Given the description of an element on the screen output the (x, y) to click on. 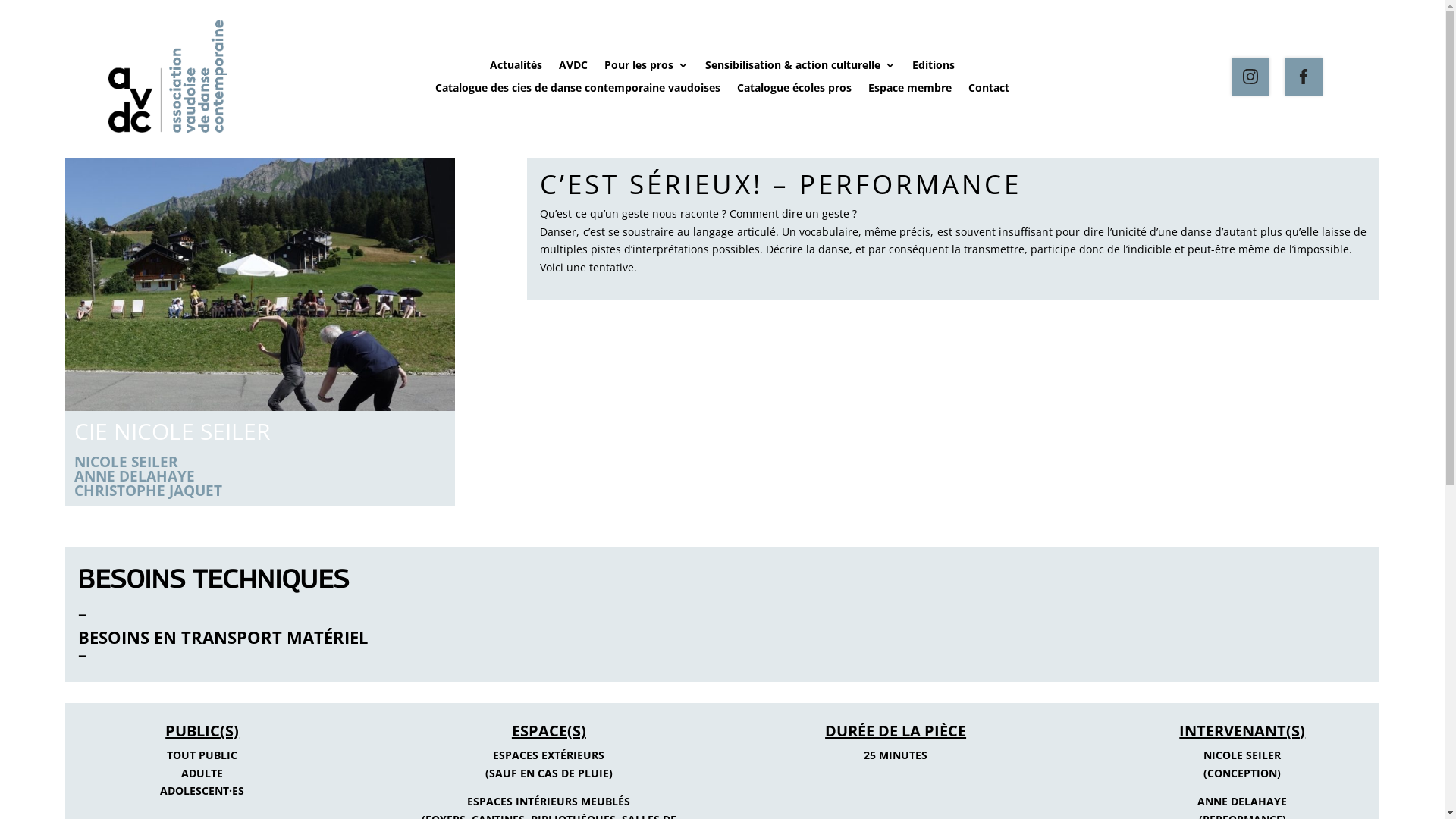
AVDC Element type: text (572, 67)
logo-bleu-pantone Element type: hover (166, 76)
Editions Element type: text (933, 67)
Contact Element type: text (988, 90)
Catalogue des cies de danse contemporaine vaudoises Element type: text (577, 90)
Pour les pros Element type: text (646, 67)
Sensibilisation & action culturelle Element type: text (800, 67)
Espace membre Element type: text (909, 90)
